Given the description of an element on the screen output the (x, y) to click on. 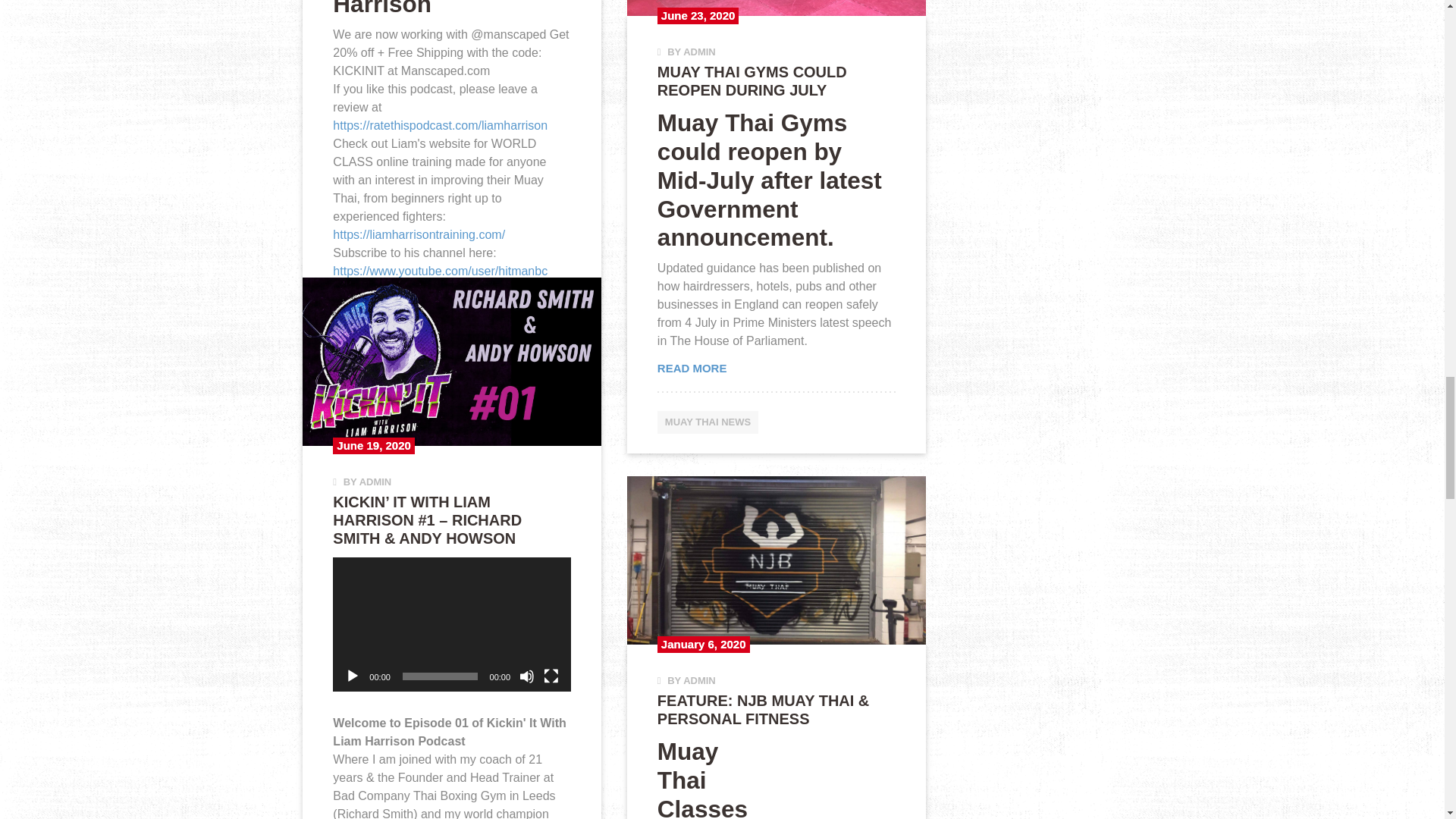
Play (352, 676)
Fullscreen (551, 676)
MUAY THAI NEWS (383, 416)
Mute (526, 676)
